Given the description of an element on the screen output the (x, y) to click on. 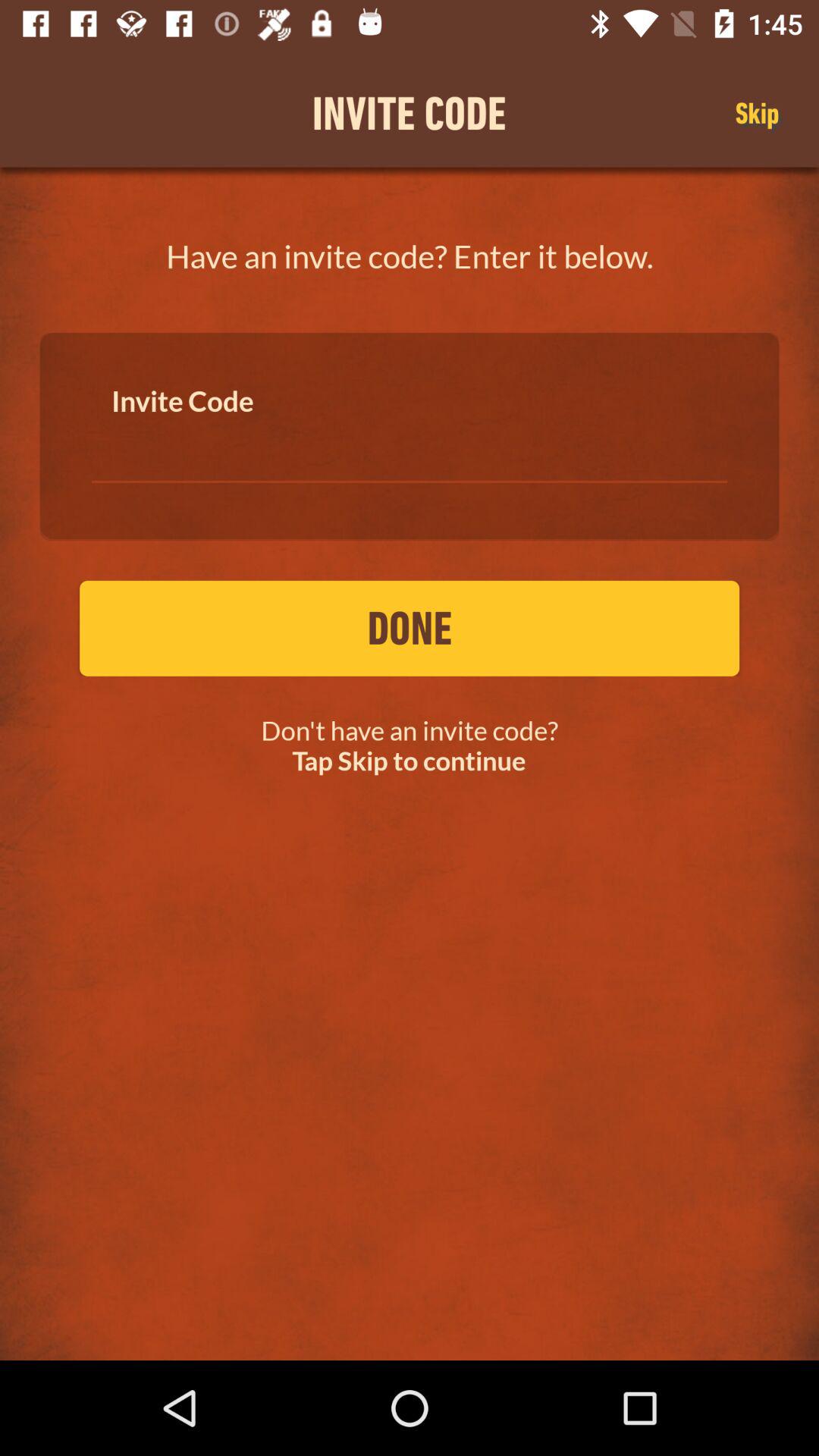
select the icon below the have an invite (409, 446)
